Given the description of an element on the screen output the (x, y) to click on. 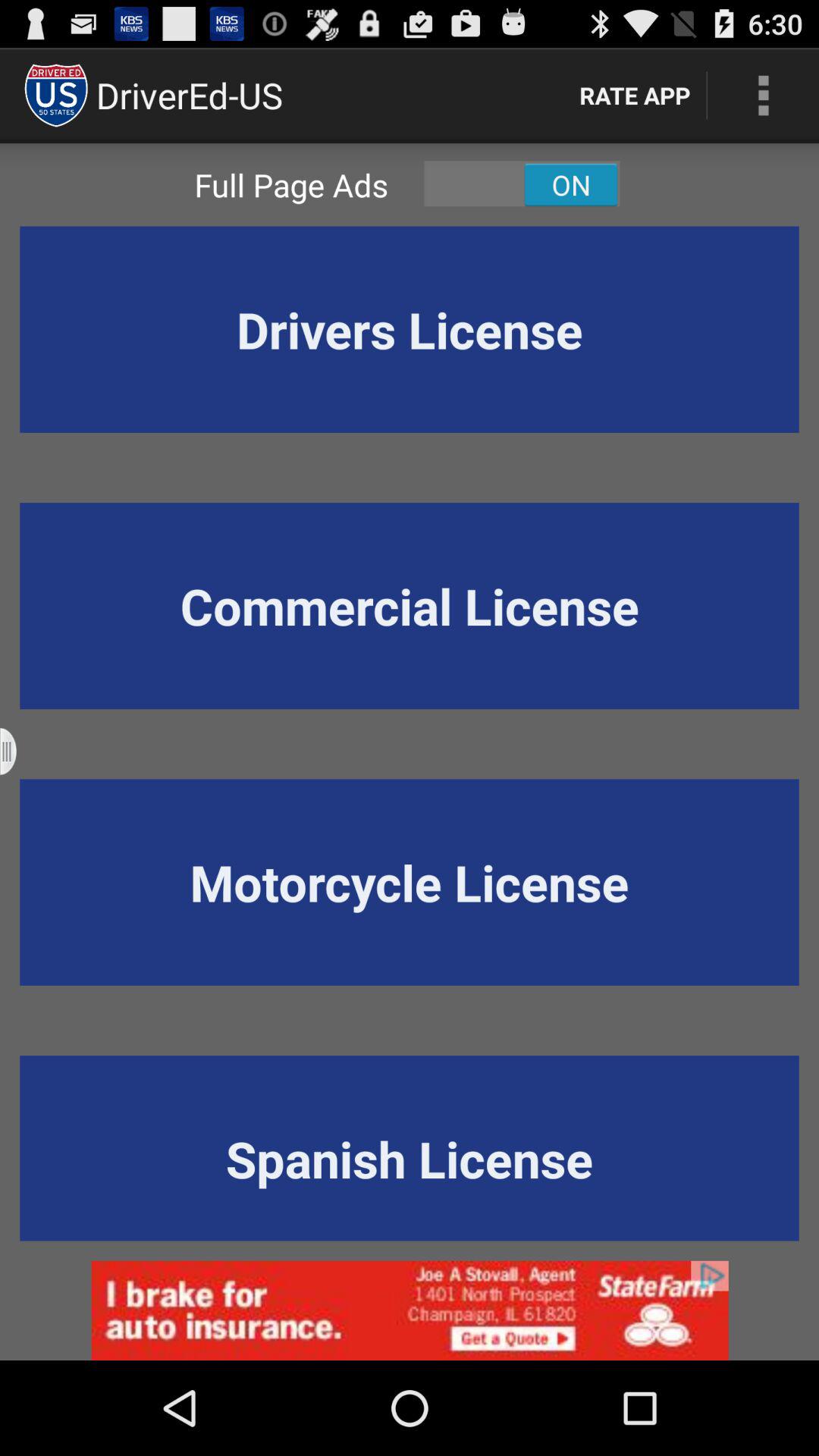
open advertisement (409, 1310)
